Given the description of an element on the screen output the (x, y) to click on. 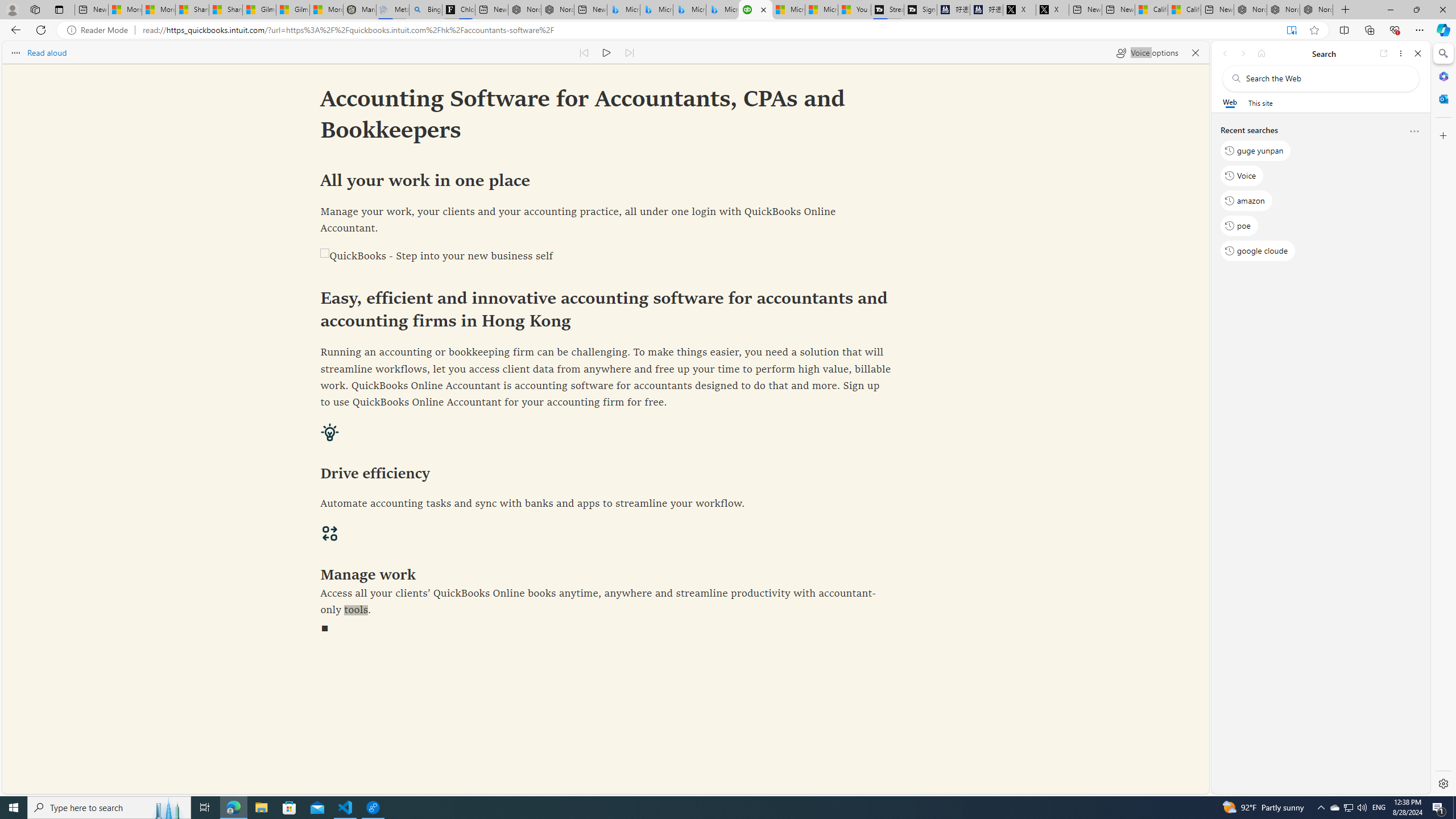
Nordace - Siena Pro 15 Essential Set (1316, 9)
Read previous paragraph (583, 52)
This site scope (1259, 102)
Side bar (1443, 418)
Streaming Coverage | T3 (887, 9)
Voice options (1146, 52)
Read next paragraph (628, 52)
Manatee Mortality Statistics | FWC (359, 9)
